Given the description of an element on the screen output the (x, y) to click on. 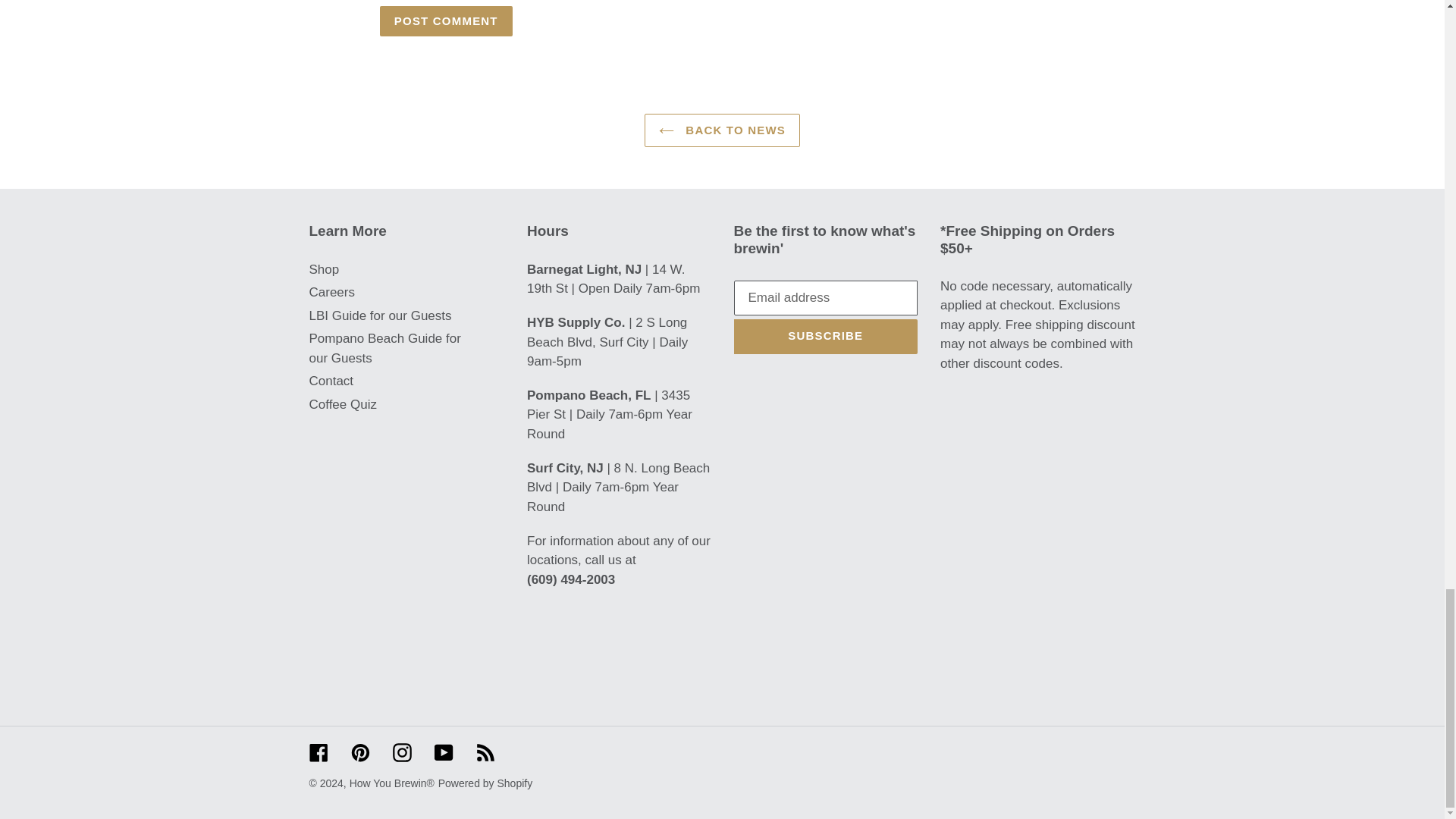
Post comment (446, 20)
